Given the description of an element on the screen output the (x, y) to click on. 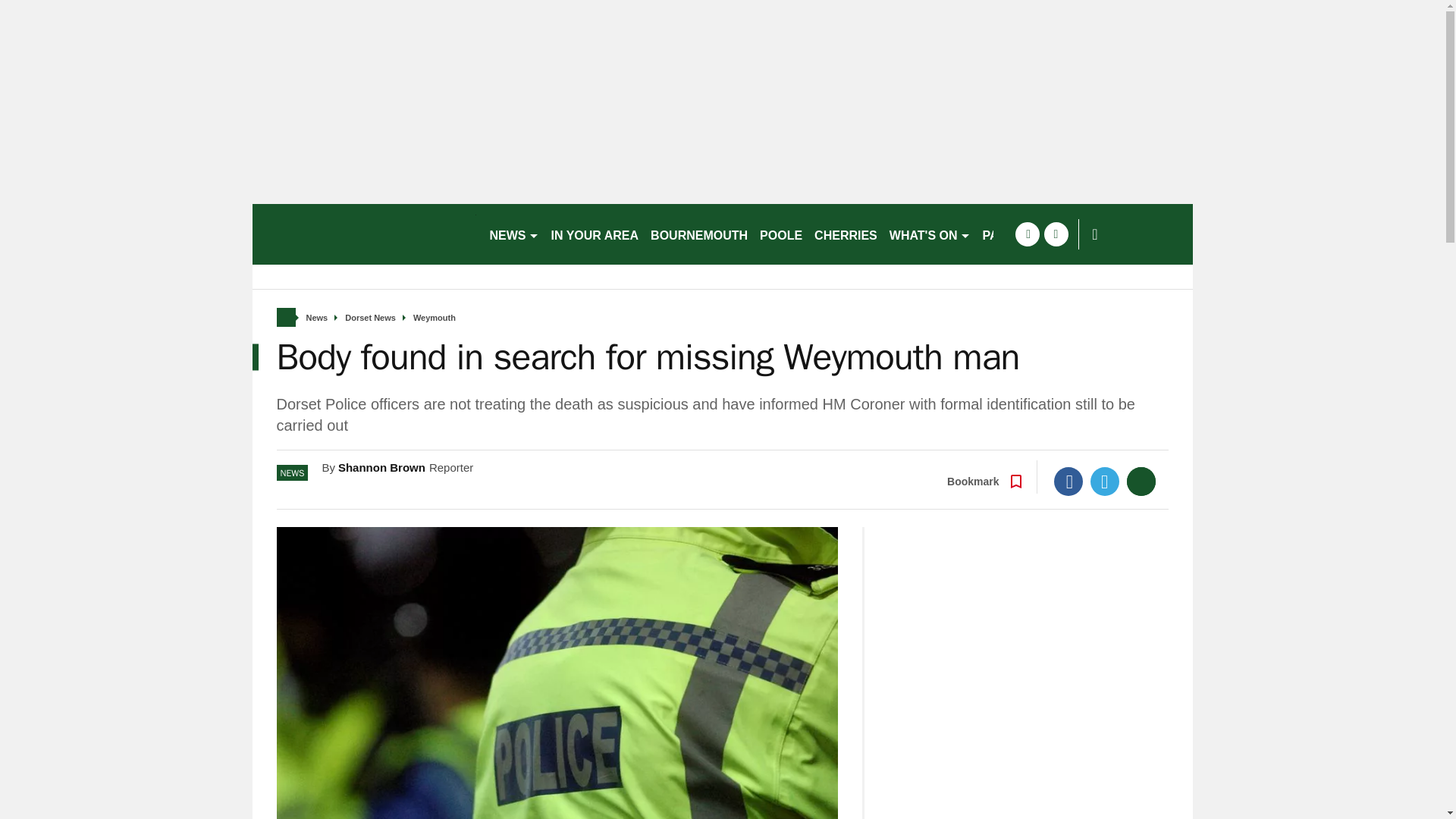
CHERRIES (845, 233)
BOURNEMOUTH (699, 233)
twitter (1055, 233)
WHAT'S ON (929, 233)
POOLE (781, 233)
facebook (1026, 233)
Facebook (1068, 481)
Twitter (1104, 481)
NEWS (513, 233)
dorsetlive (363, 233)
PARTNER STORIES (1039, 233)
IN YOUR AREA (594, 233)
